Given the description of an element on the screen output the (x, y) to click on. 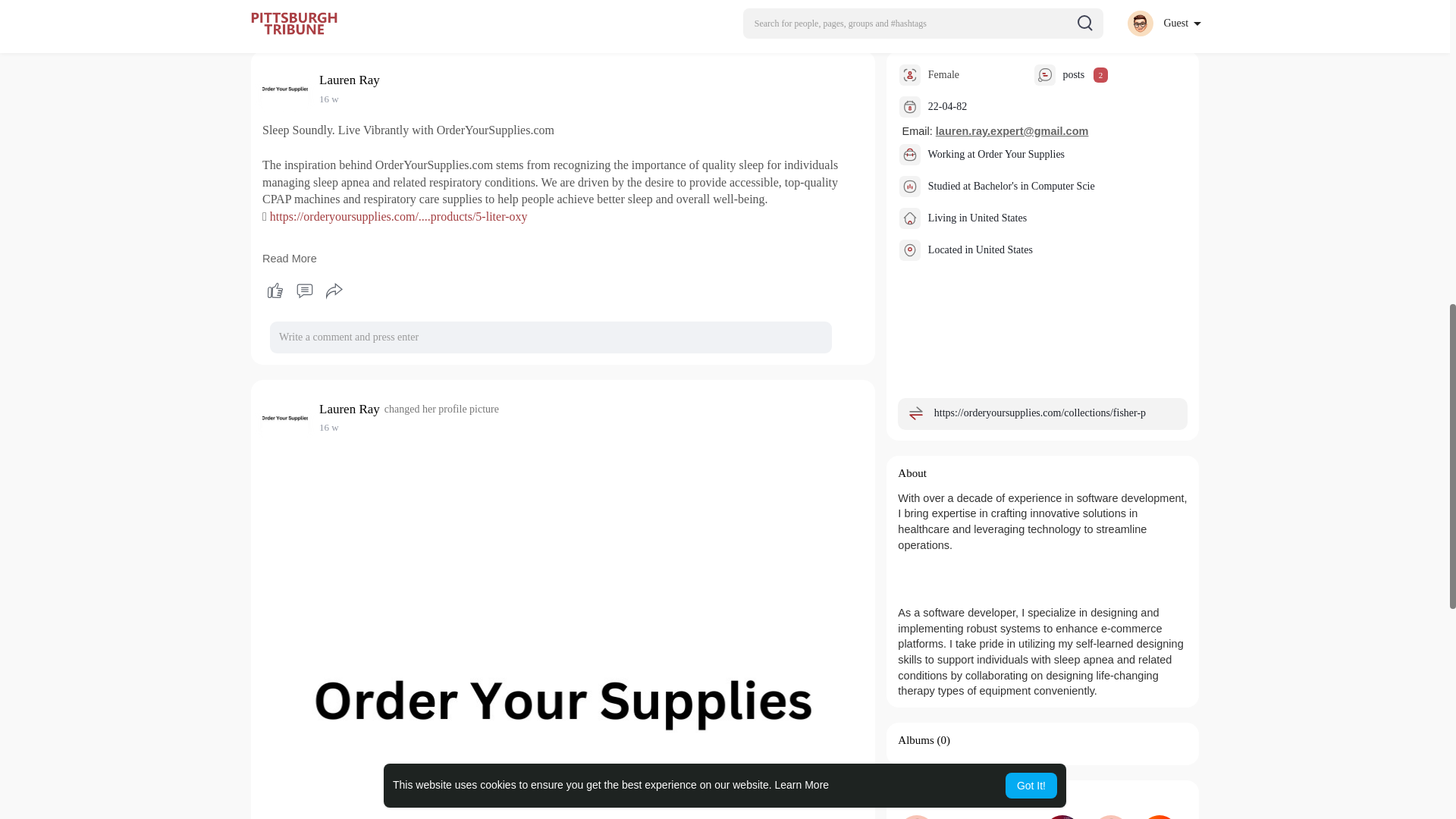
16 w (328, 427)
Following (921, 797)
Read More (289, 258)
Albums (916, 739)
Lauren Ray (351, 409)
Advertisement (724, 25)
Comments (304, 290)
Order Your Supplies (1020, 153)
16 w (328, 98)
Lauren Ray (351, 79)
Share (334, 290)
16 w (328, 98)
16 w (328, 427)
